Given the description of an element on the screen output the (x, y) to click on. 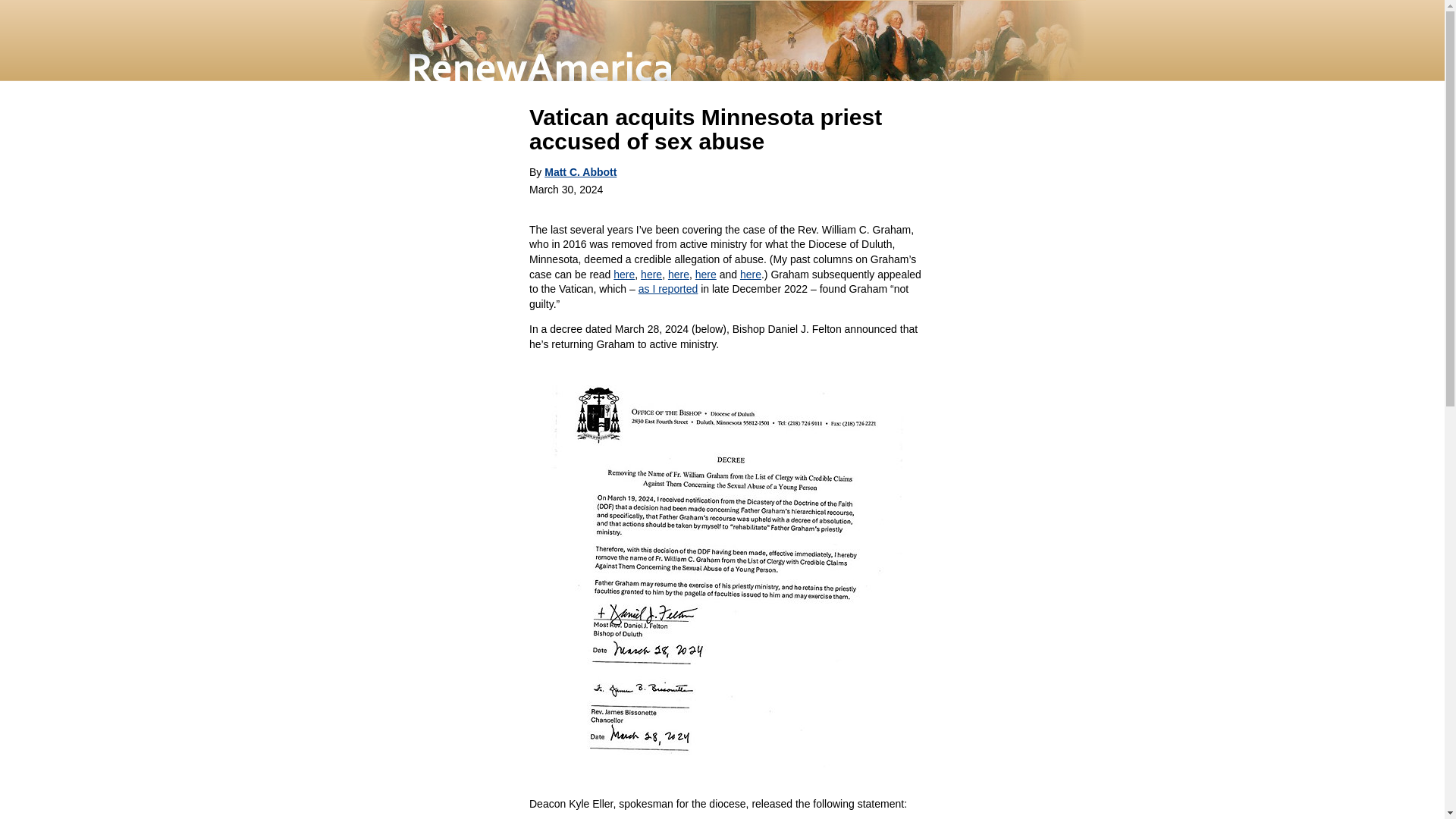
as I reported (668, 288)
Matt C. Abbott (579, 172)
here (678, 274)
here (750, 274)
here (651, 274)
here (705, 274)
here (623, 274)
